Given the description of an element on the screen output the (x, y) to click on. 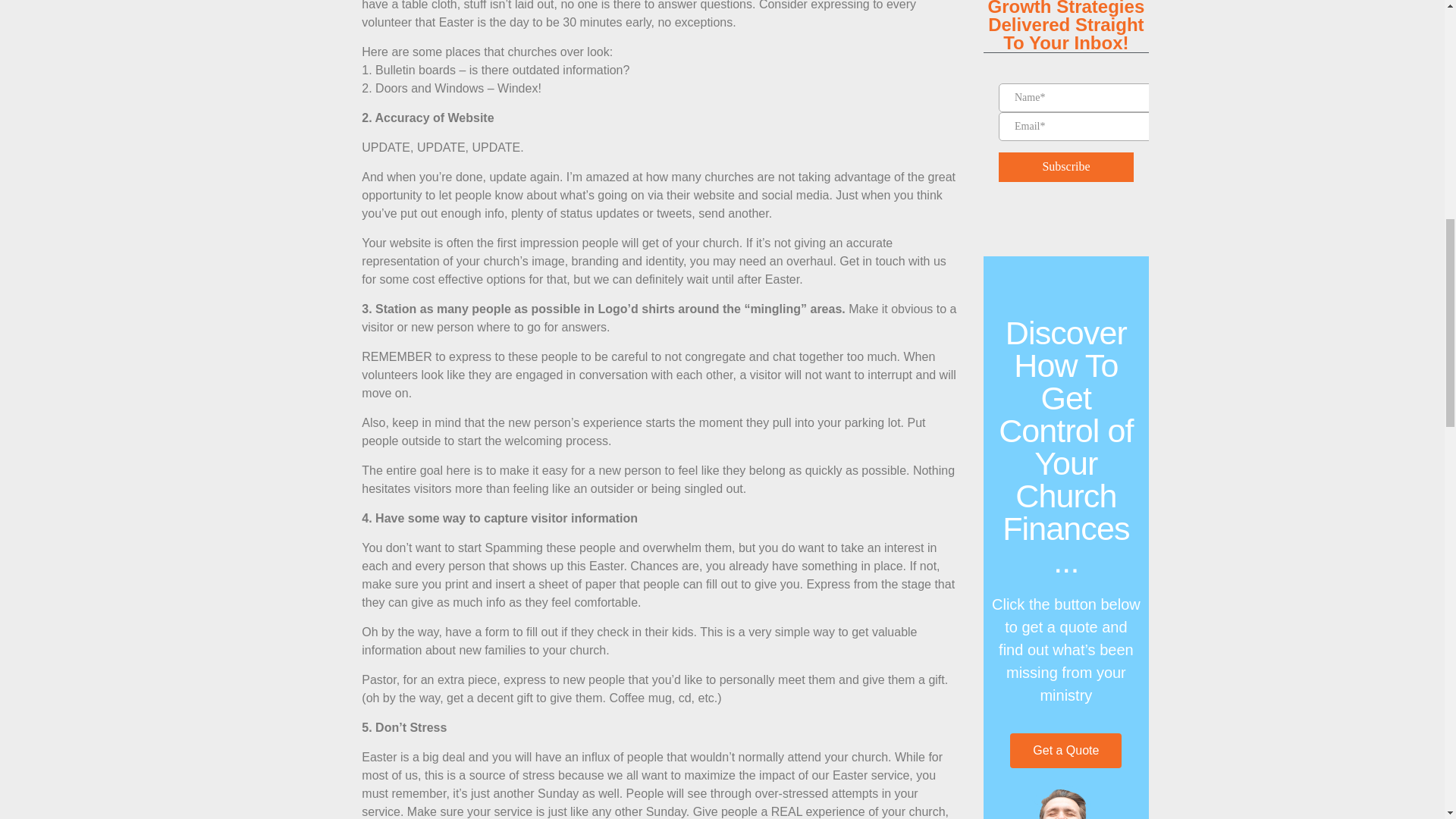
10. BlogSubscribe Form (1066, 124)
Get a Quote (1065, 749)
